Given the description of an element on the screen output the (x, y) to click on. 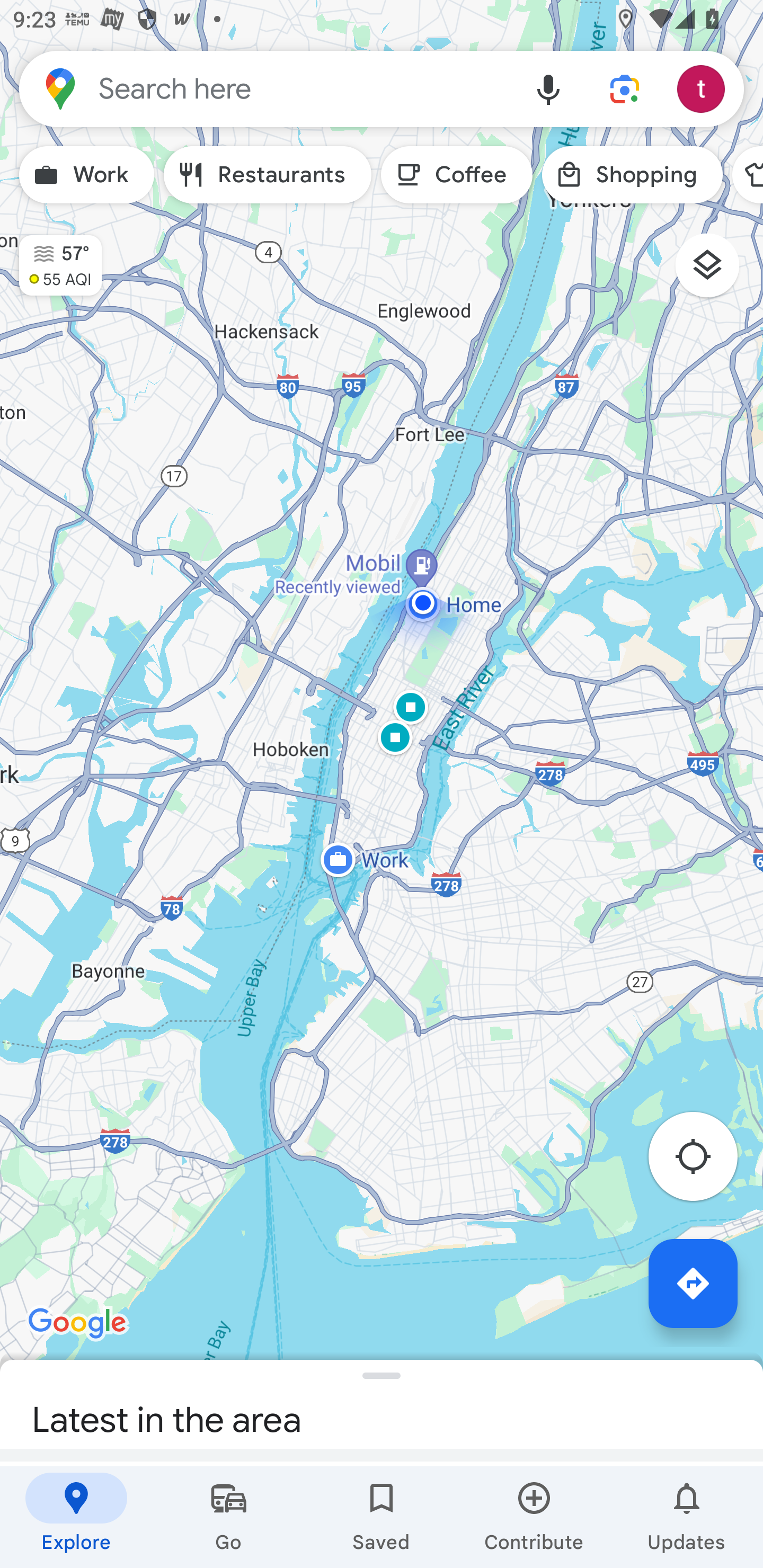
Search here (264, 88)
Voice search (548, 88)
Lens in Maps (624, 88)
Account and settings. (703, 88)
Work (86, 174)
Restaurants Search for Restaurants (267, 174)
Coffee Search for Coffee (456, 174)
Shopping Search for Shopping (631, 174)
Mist, 57°, Moderate, 55 AQI 57° 55 AQI (50, 257)
Layers (716, 271)
Re-center map to your location (702, 1161)
Directions (692, 1283)
Go (228, 1517)
Saved (381, 1517)
Contribute (533, 1517)
Updates (686, 1517)
